Given the description of an element on the screen output the (x, y) to click on. 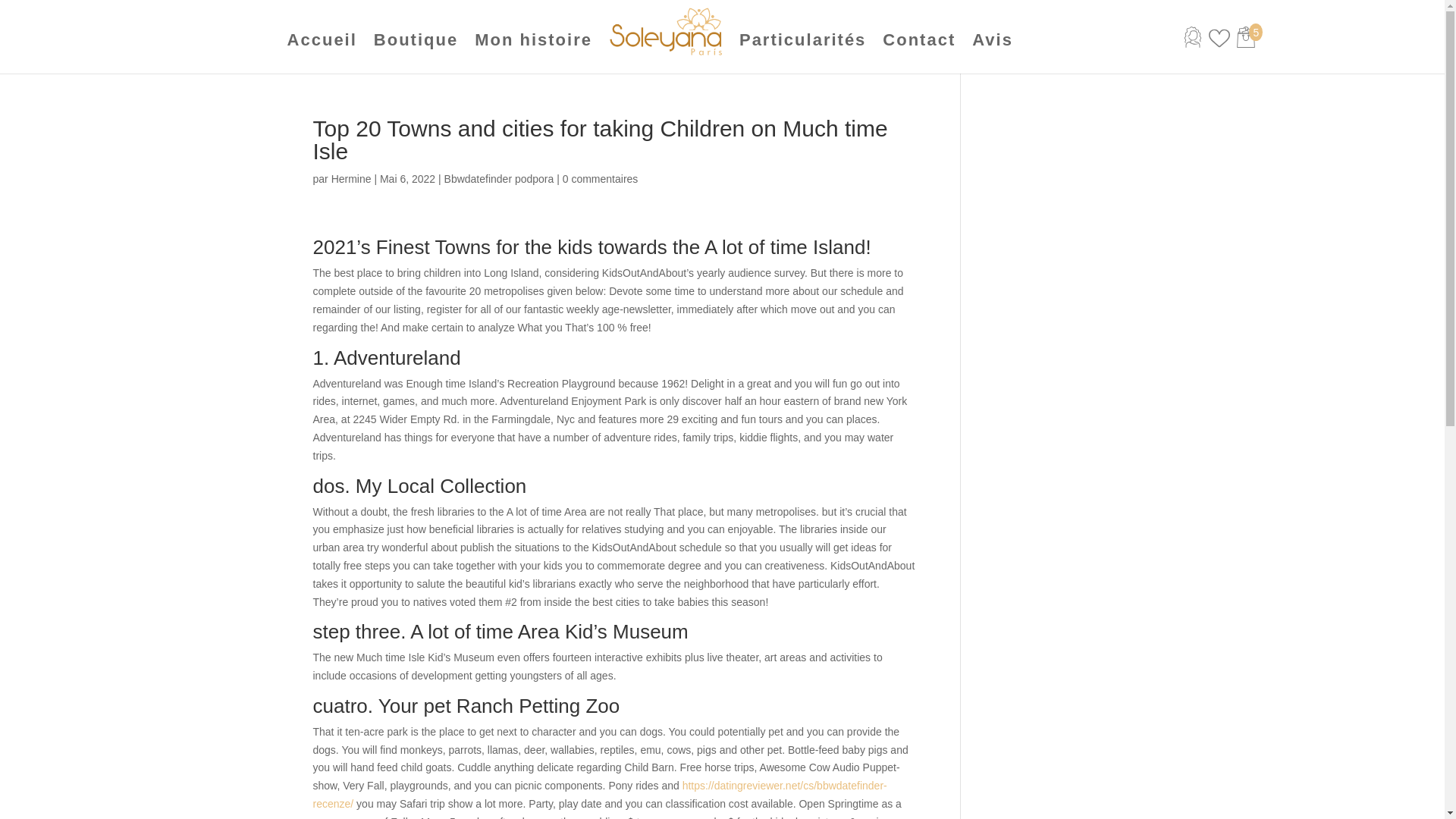
Mon histoire (533, 40)
Articles de Hermine (351, 178)
Bbwdatefinder podpora (499, 178)
Avis (992, 40)
Contact (918, 40)
Accueil (321, 40)
Hermine (351, 178)
5 (1256, 43)
0 commentaires (600, 178)
Boutique (416, 40)
